Given the description of an element on the screen output the (x, y) to click on. 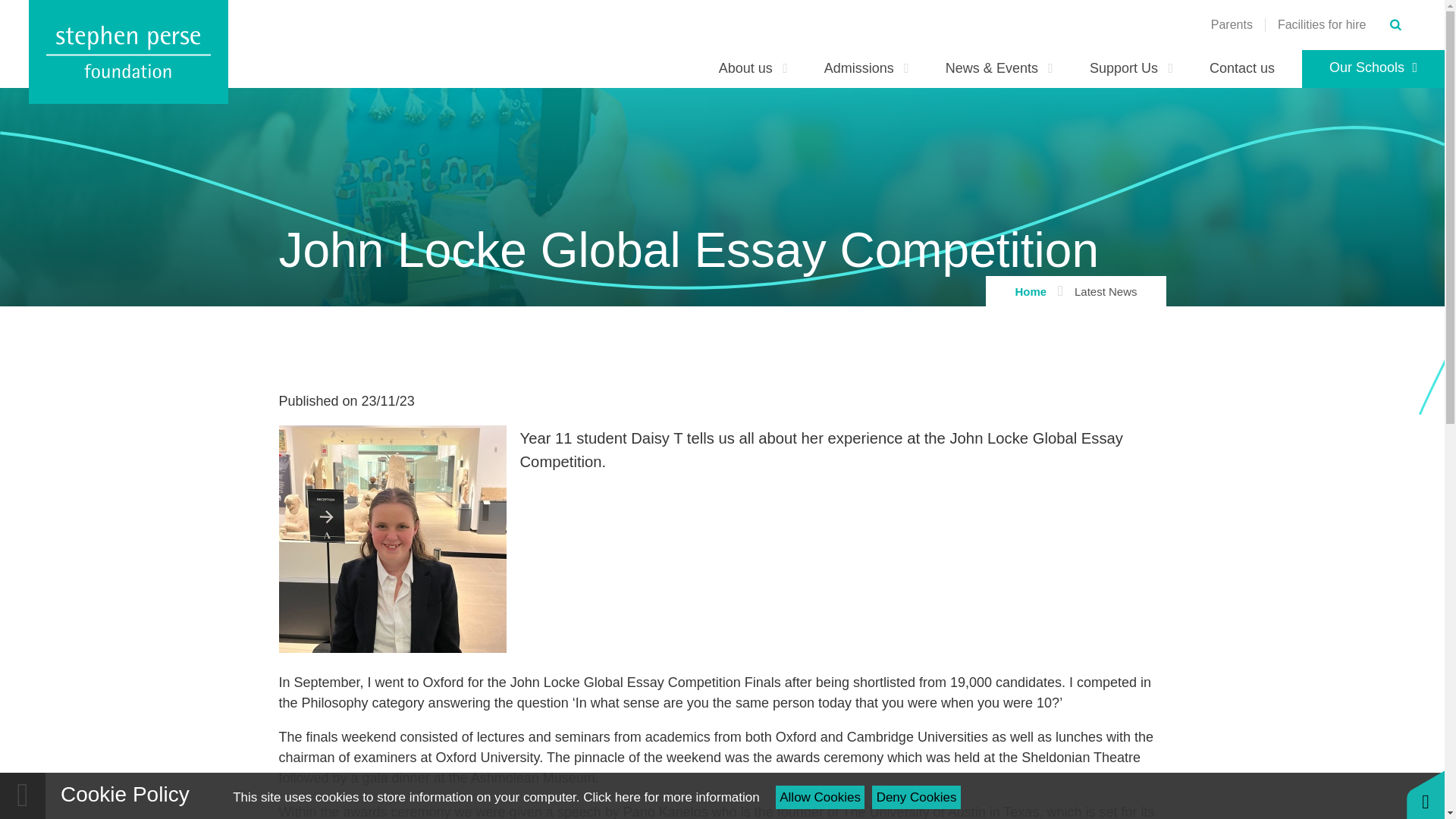
Allow Cookies (820, 797)
About us (753, 67)
See cookie policy (670, 797)
home (128, 52)
Admissions (866, 67)
Parents (1231, 24)
Facilities for hire (1321, 24)
